Given the description of an element on the screen output the (x, y) to click on. 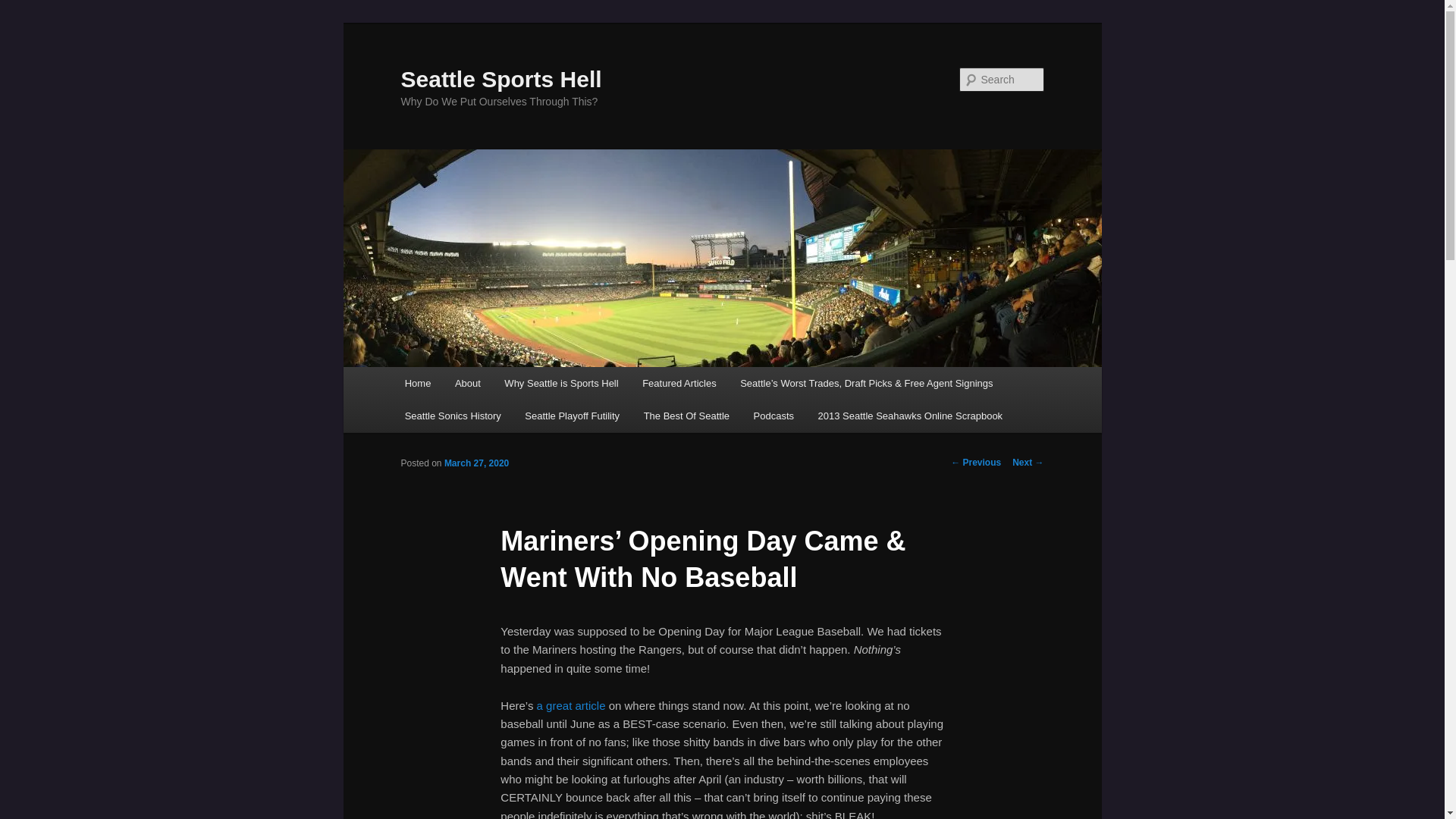
About (467, 382)
Seattle Sports Hell (500, 78)
Seattle Sonics History (453, 415)
Featured Articles (679, 382)
Why Seattle is Sports Hell (561, 382)
Home (417, 382)
Seattle Playoff Futility (572, 415)
Search (24, 8)
7:17 am (476, 462)
